Given the description of an element on the screen output the (x, y) to click on. 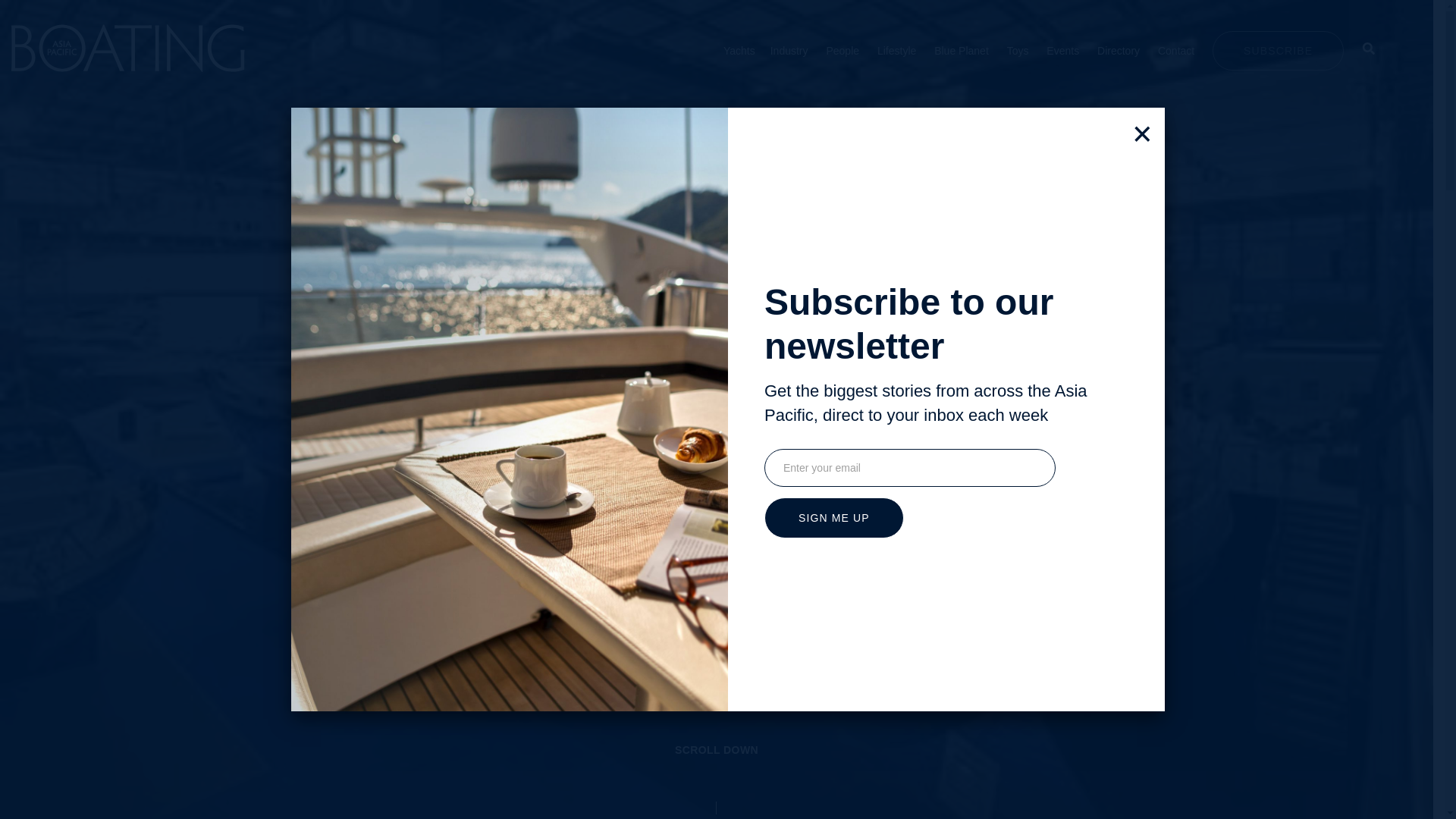
SCROLL DOWN (716, 775)
Events (1062, 50)
SUBSCRIBE (1277, 49)
Contact (1175, 50)
Blue Planet (961, 50)
Sign me up (834, 517)
Industry (789, 50)
Toys (1018, 50)
SCROLL DOWN (716, 750)
People (842, 50)
Directory (1118, 50)
